Given the description of an element on the screen output the (x, y) to click on. 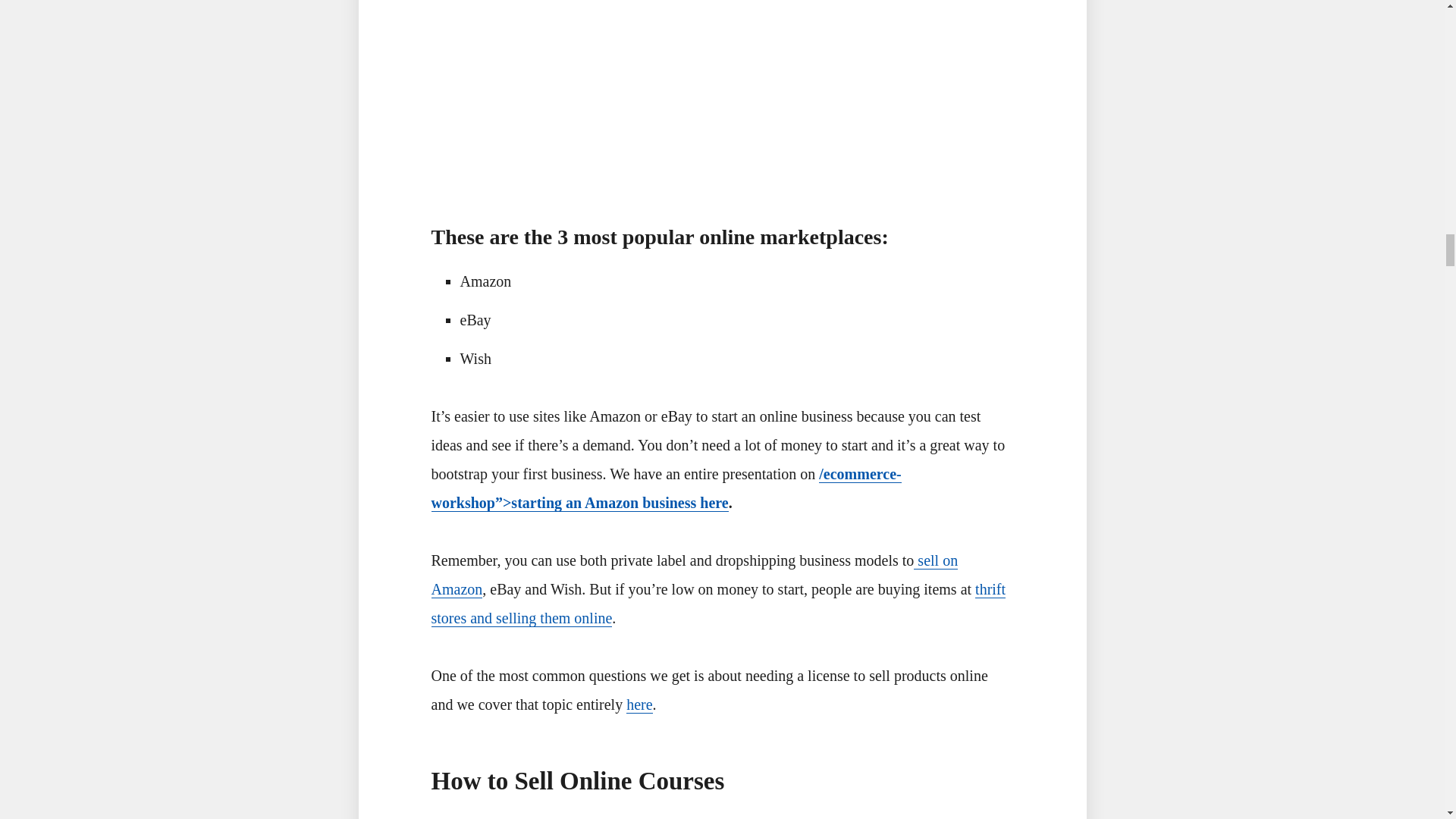
thrift stores and selling them online (718, 603)
here (639, 704)
sell on Amazon (694, 575)
